Given the description of an element on the screen output the (x, y) to click on. 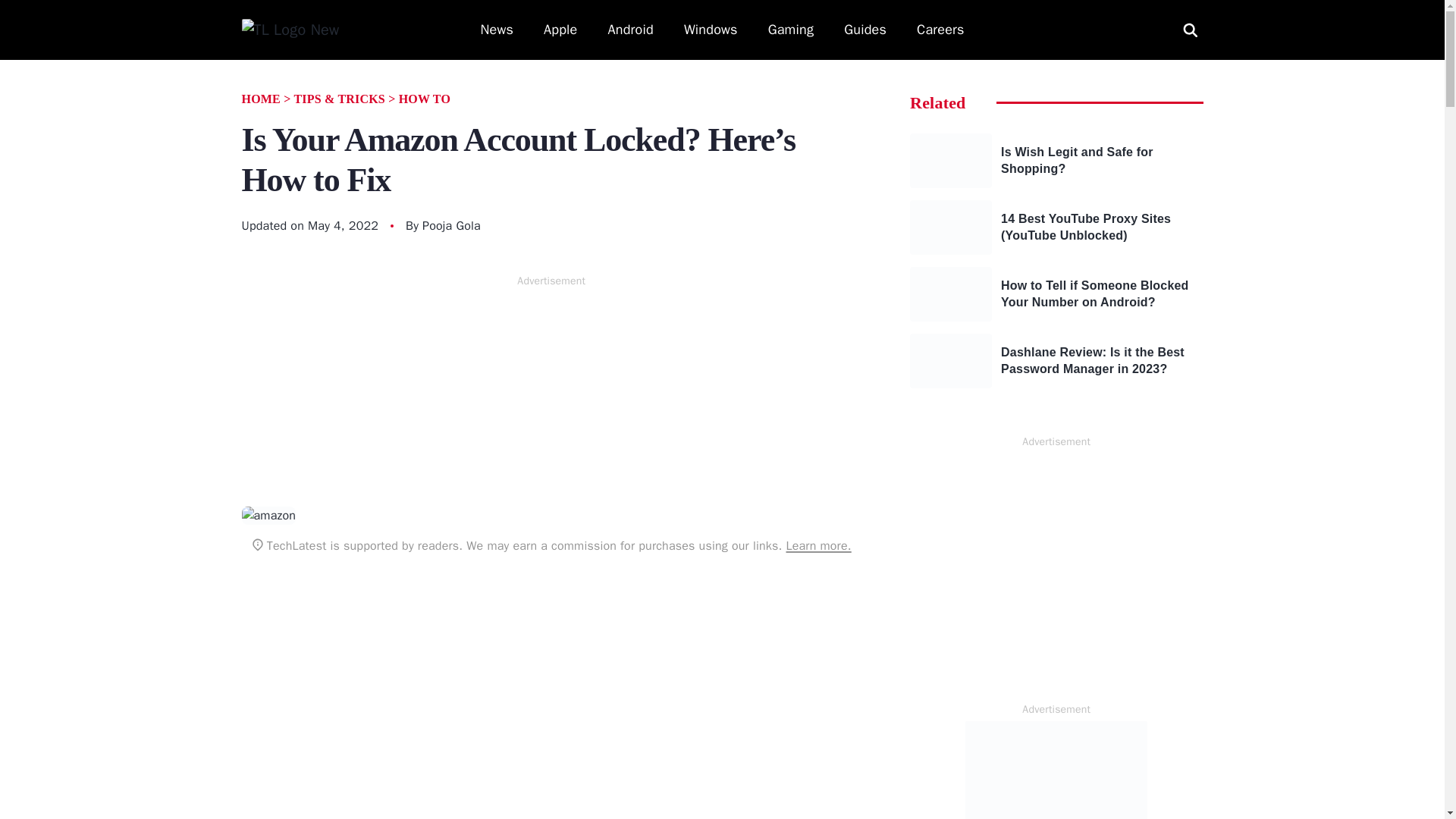
News (496, 30)
Search for: (1189, 29)
Search (29, 11)
Apple (560, 30)
Gaming (790, 30)
Pooja Gola (451, 225)
Windows (711, 30)
HOW TO (423, 98)
Learn more. (818, 545)
HOME (260, 98)
Careers (940, 30)
Guides (865, 30)
Android (630, 30)
